Given the description of an element on the screen output the (x, y) to click on. 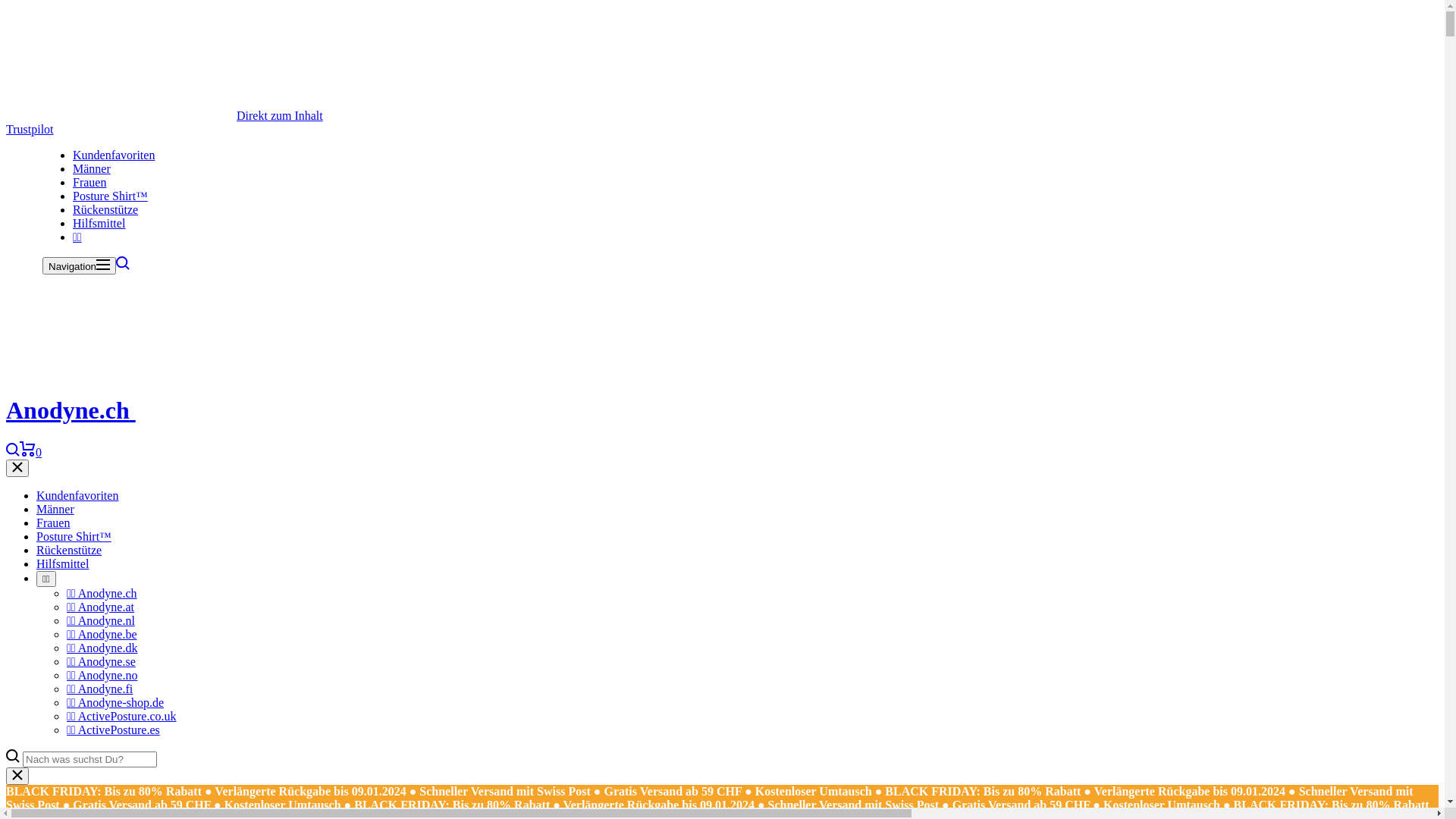
Hilfsmittel Element type: text (62, 563)
Frauen Element type: text (52, 522)
Frauen Element type: text (89, 181)
Kundenfavoriten Element type: text (77, 495)
Kundenfavoriten Element type: text (113, 154)
Navigation Element type: text (79, 265)
Hilfsmittel Element type: text (98, 222)
Direkt zum Inhalt Element type: text (279, 115)
Anodyne.ch Element type: text (139, 409)
Trustpilot Element type: text (29, 128)
0 Element type: text (30, 451)
